Given the description of an element on the screen output the (x, y) to click on. 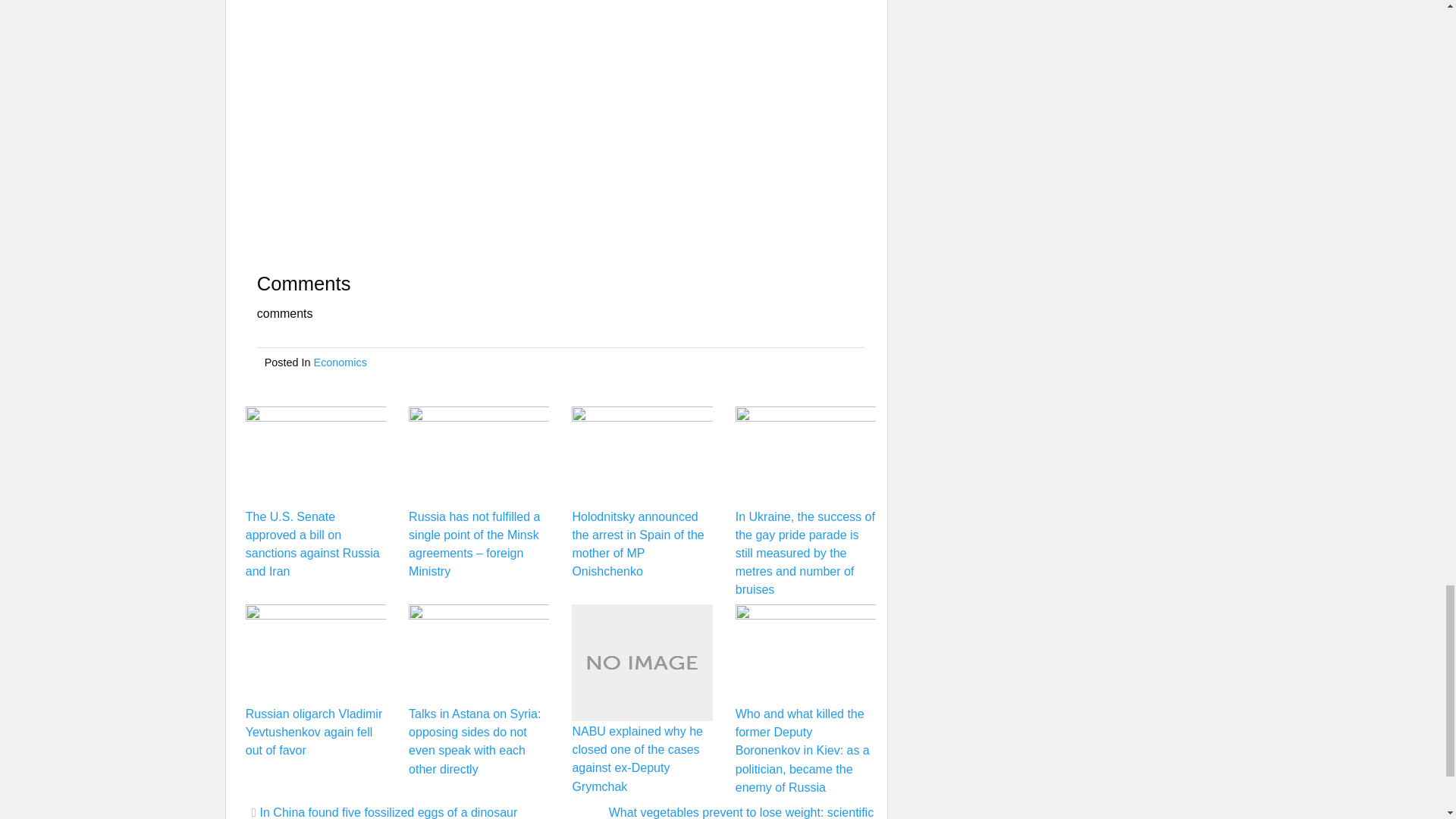
Economics (340, 362)
